Given the description of an element on the screen output the (x, y) to click on. 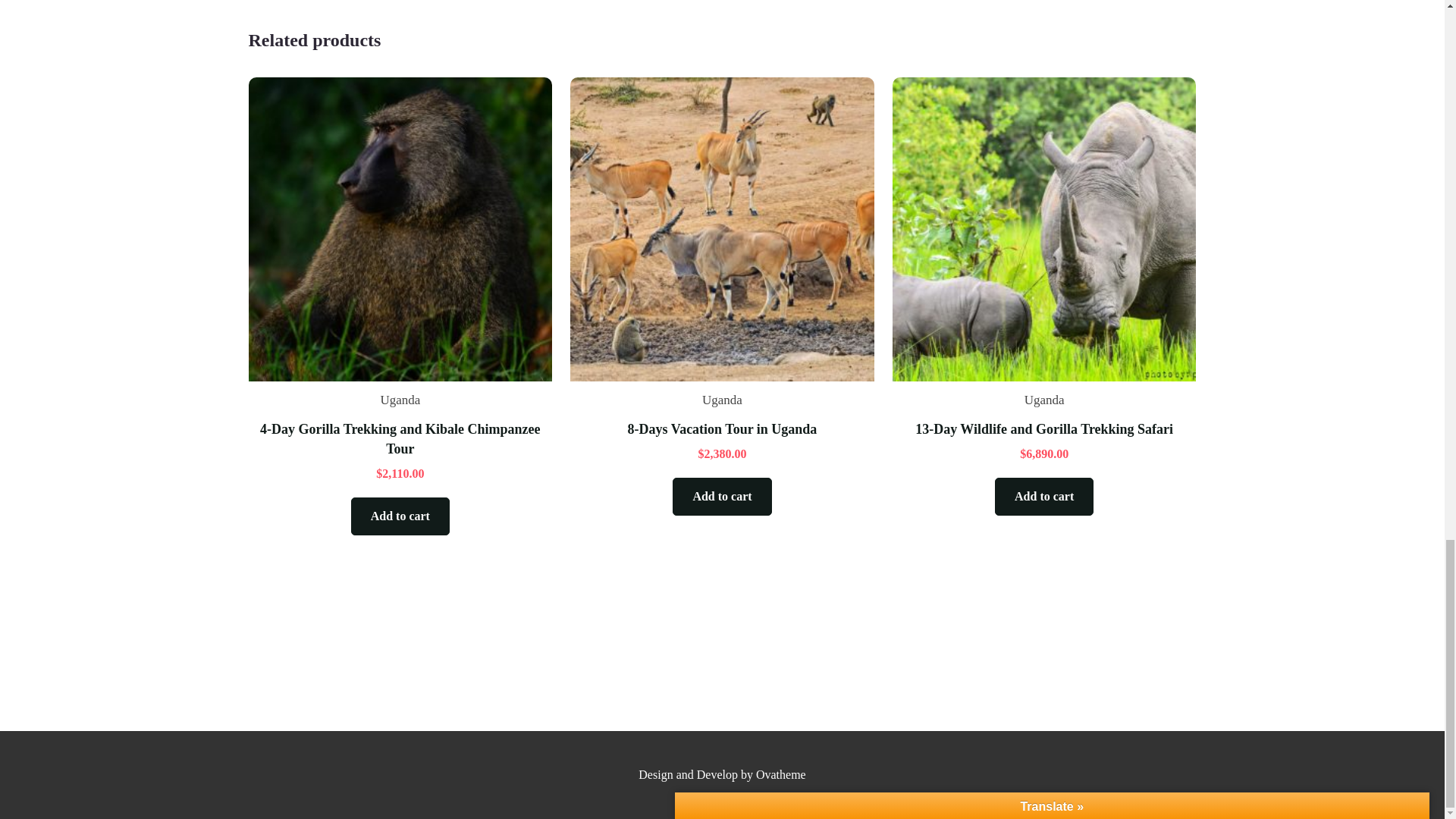
Add to cart (399, 516)
Add to cart (721, 496)
Add to cart (1043, 496)
